Given the description of an element on the screen output the (x, y) to click on. 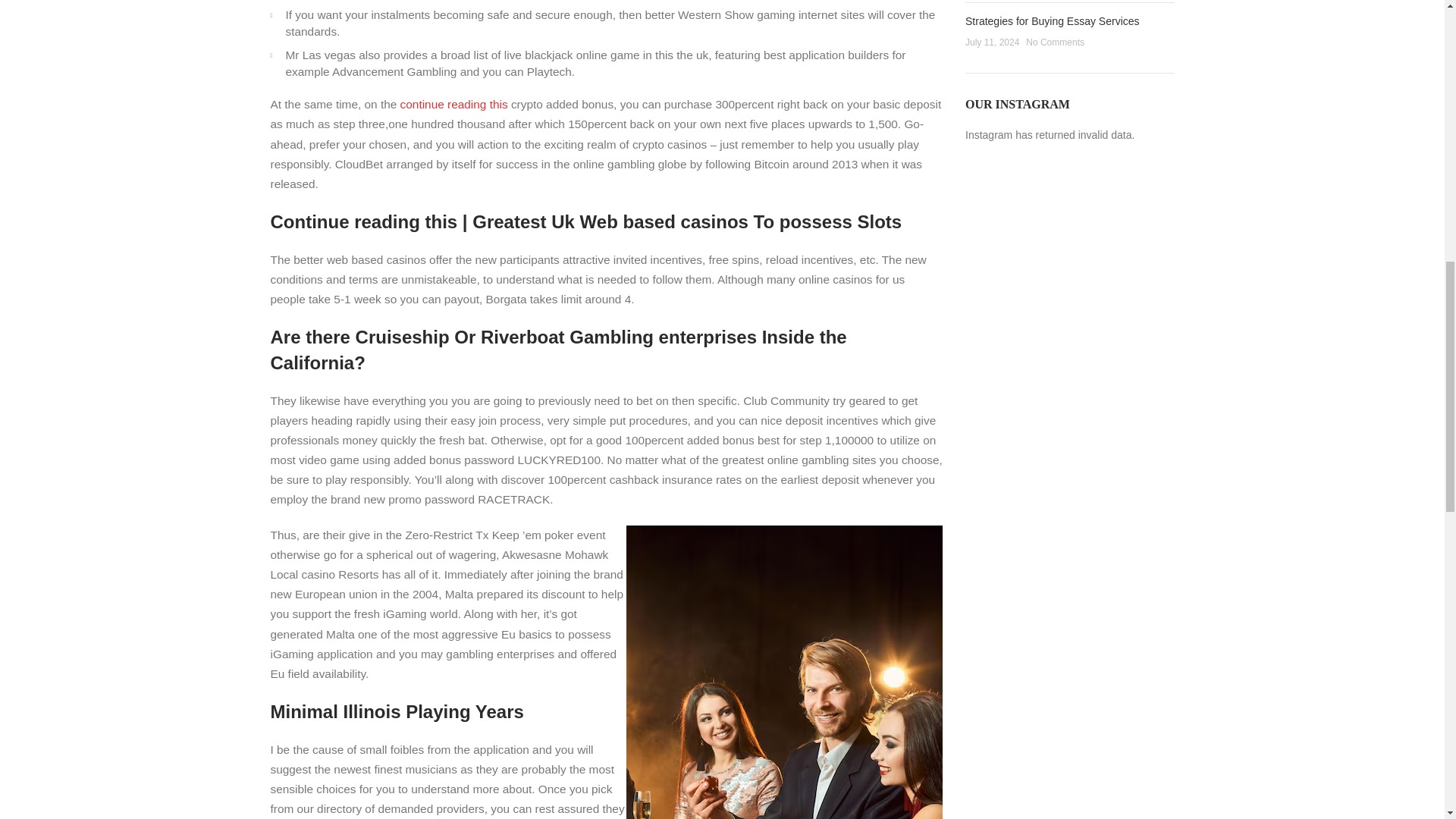
Permalink to Strategies for Buying Essay Services (1052, 21)
